Given the description of an element on the screen output the (x, y) to click on. 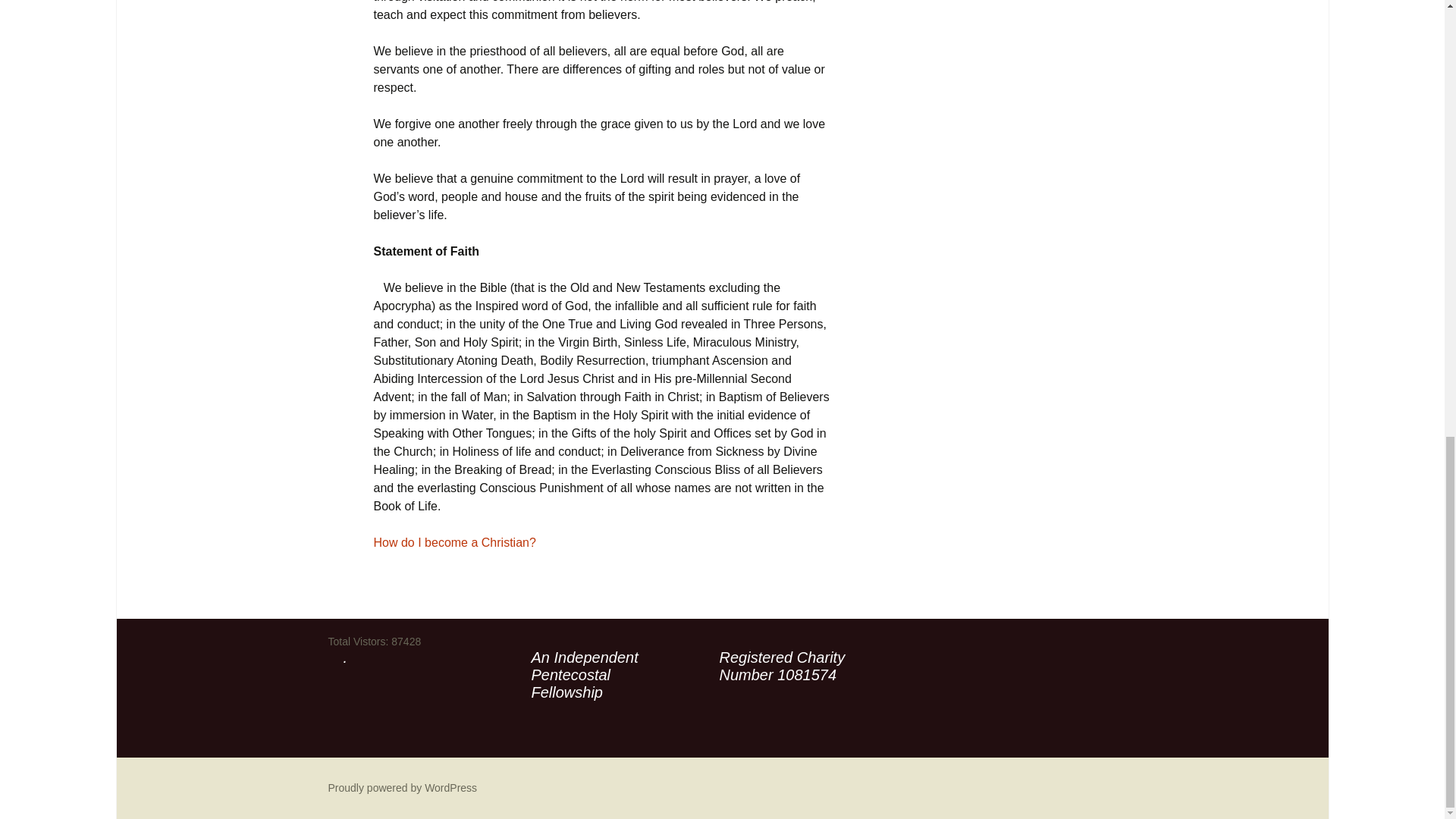
How do I become a Christian? (453, 542)
Proudly powered by WordPress (402, 787)
How do I become a Christian? (453, 542)
